Given the description of an element on the screen output the (x, y) to click on. 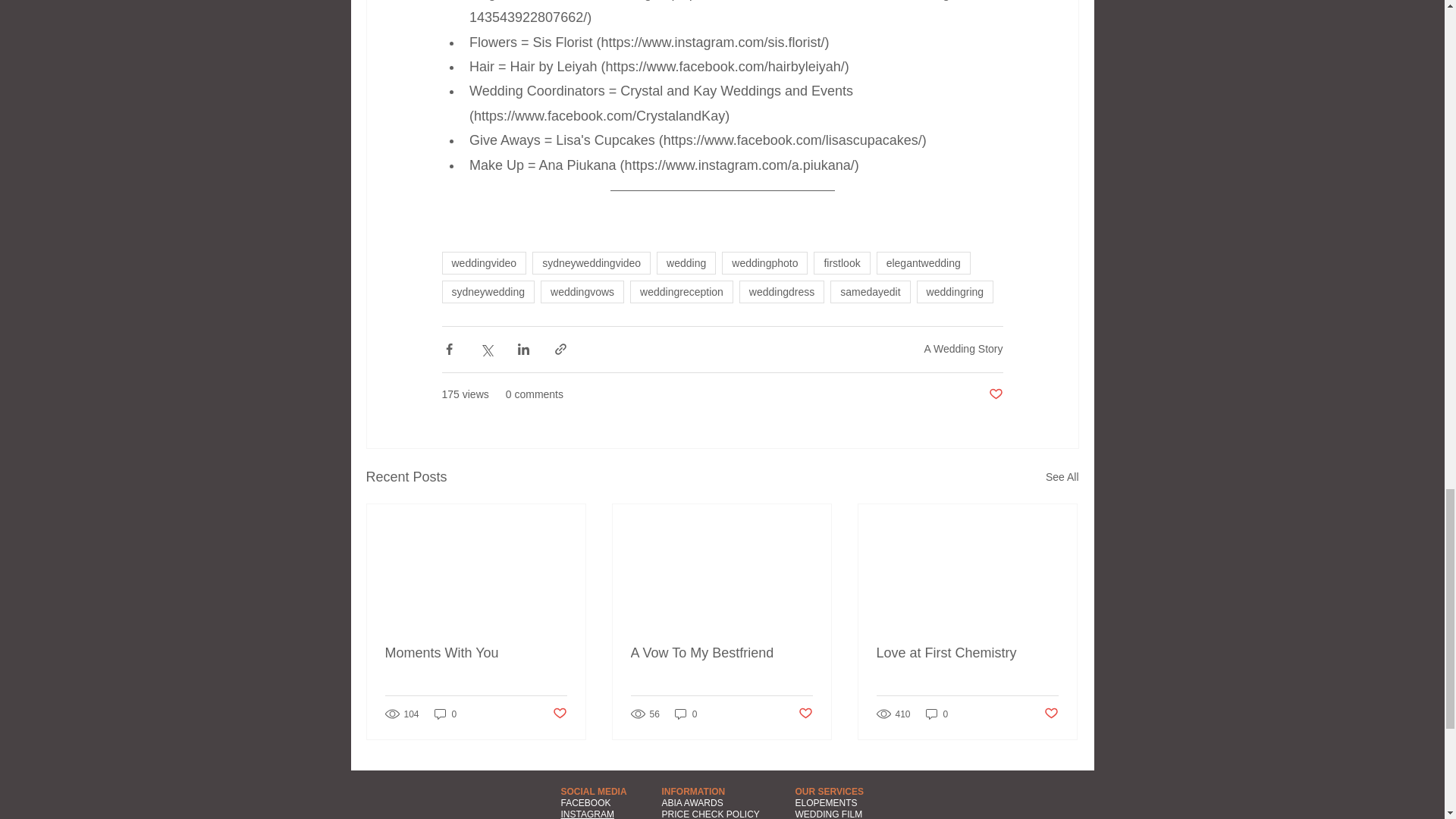
See All (1061, 477)
0 (445, 713)
Post not marked as liked (804, 713)
weddingdress (781, 291)
Post not marked as liked (558, 713)
A Vow To My Bestfriend (721, 652)
wedding (686, 262)
Moments With You (476, 652)
elegantwedding (923, 262)
0 (685, 713)
